Given the description of an element on the screen output the (x, y) to click on. 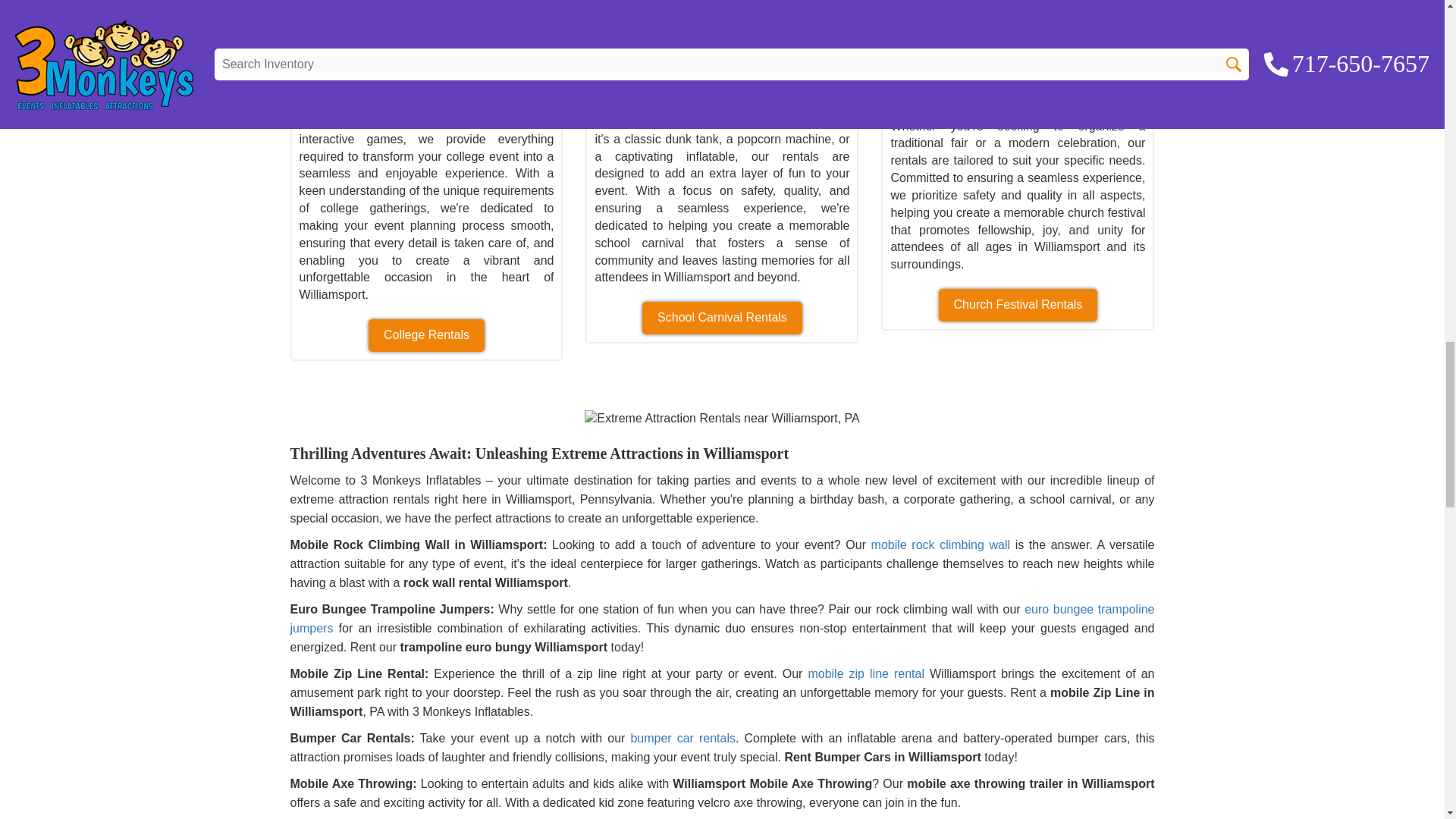
Zip Line Rental (866, 673)
Extreme Attraction Rentals near Williamsport, PA (722, 418)
Rock Wall Rental (940, 544)
Euro Bungees (721, 618)
Bumper Car Rentals Near Me (682, 738)
